Given the description of an element on the screen output the (x, y) to click on. 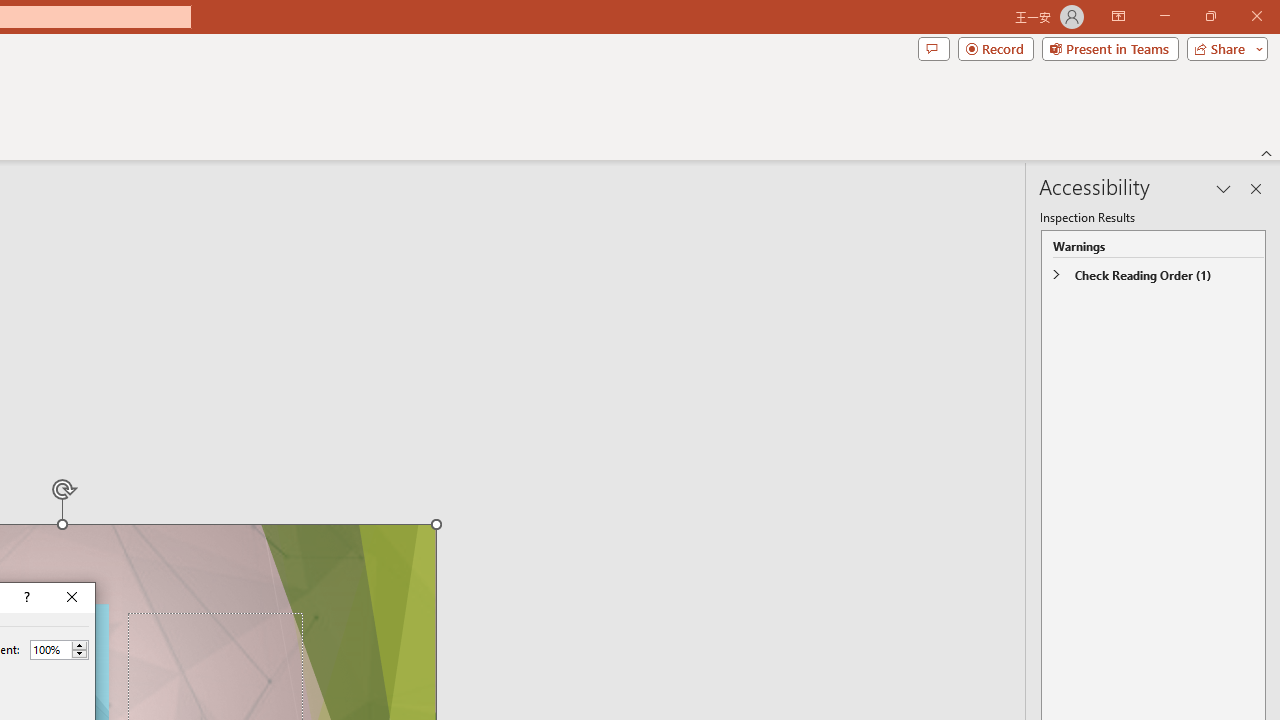
Percent (50, 649)
Percent (59, 650)
